Given the description of an element on the screen output the (x, y) to click on. 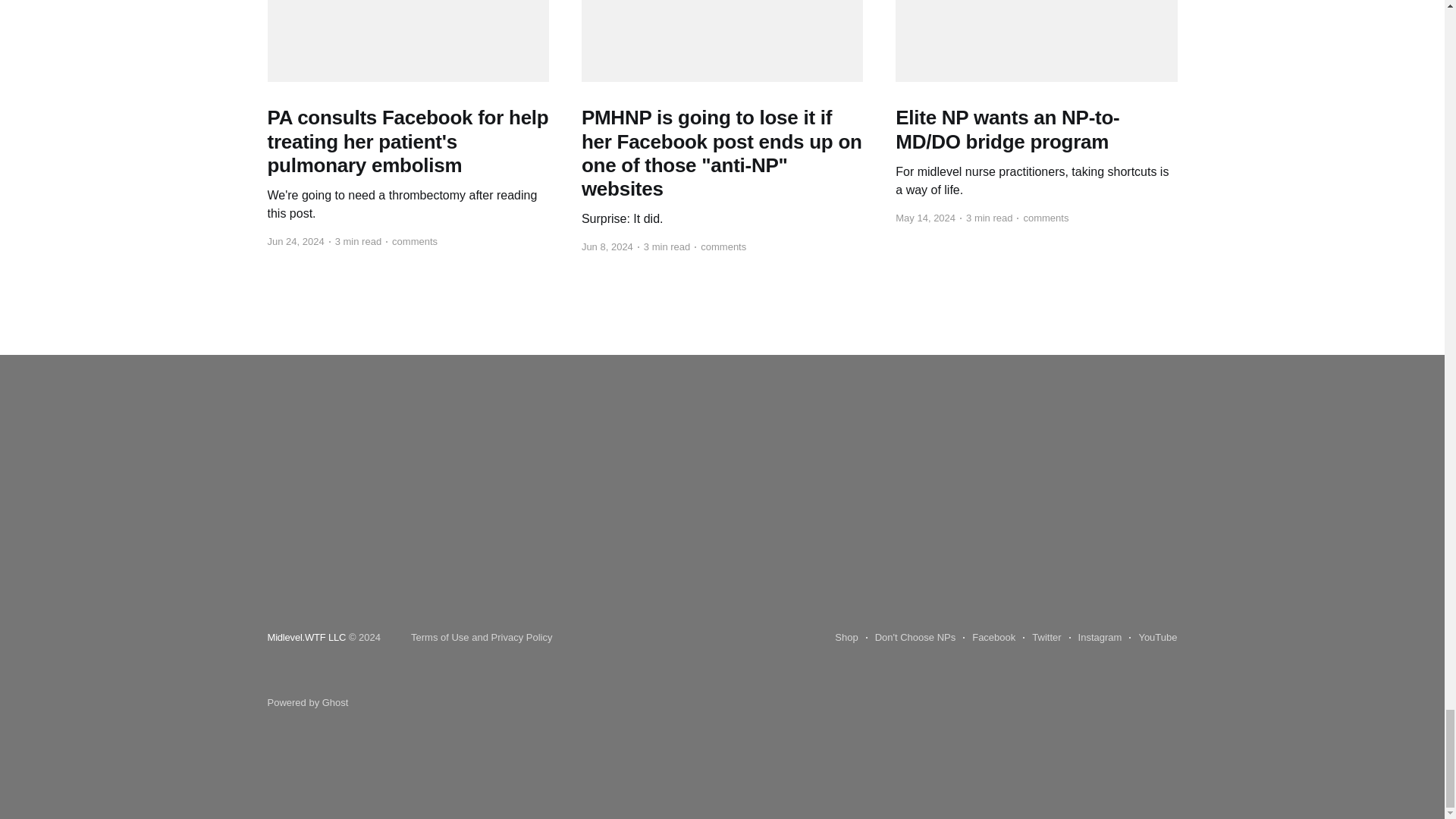
Midlevel.WTF LLC (306, 636)
Privacy Policy (522, 636)
Shop (845, 637)
comments (1042, 218)
comments (719, 247)
Terms of Use (439, 636)
comments (411, 241)
